Given the description of an element on the screen output the (x, y) to click on. 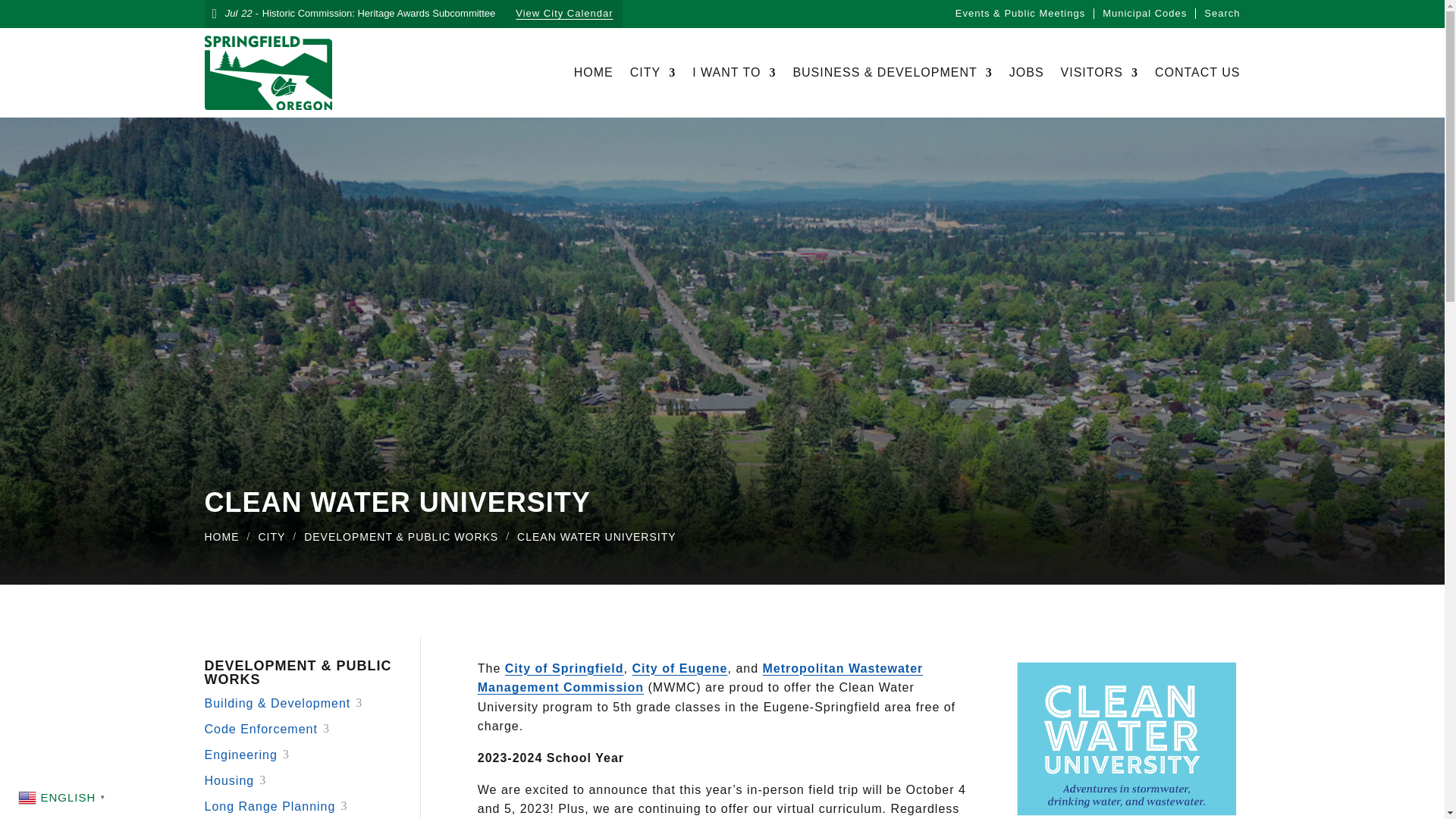
CWU Jeopardy Title Slide-01 (1126, 739)
Municipal Codes (1144, 13)
View City Calendar (563, 13)
Historic Commission: Heritage Awards Subcommittee (379, 13)
Search (1222, 13)
Historic Commission: Heritage Awards Subcommittee (379, 13)
